Given the description of an element on the screen output the (x, y) to click on. 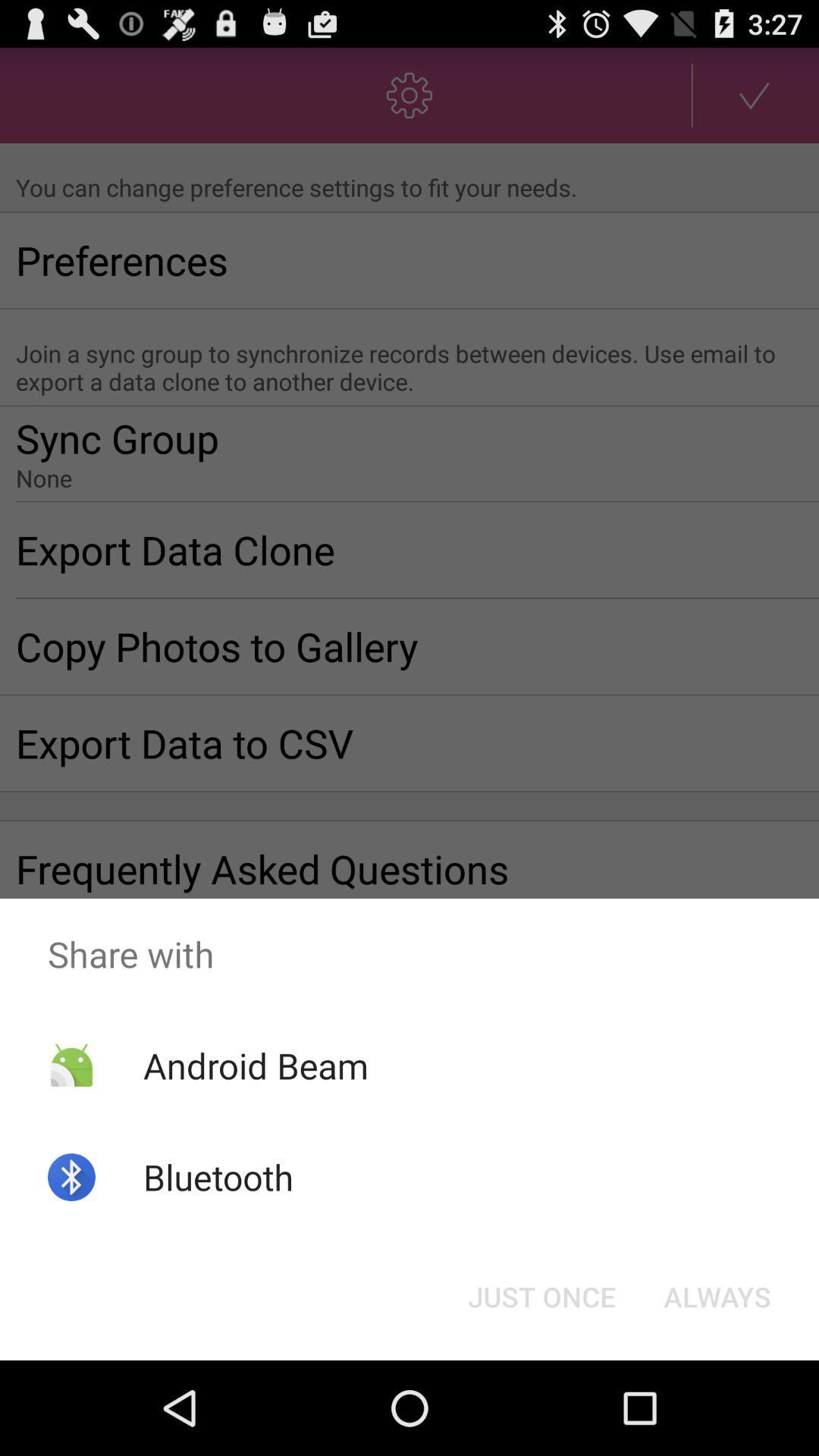
turn off item below share with item (717, 1296)
